Given the description of an element on the screen output the (x, y) to click on. 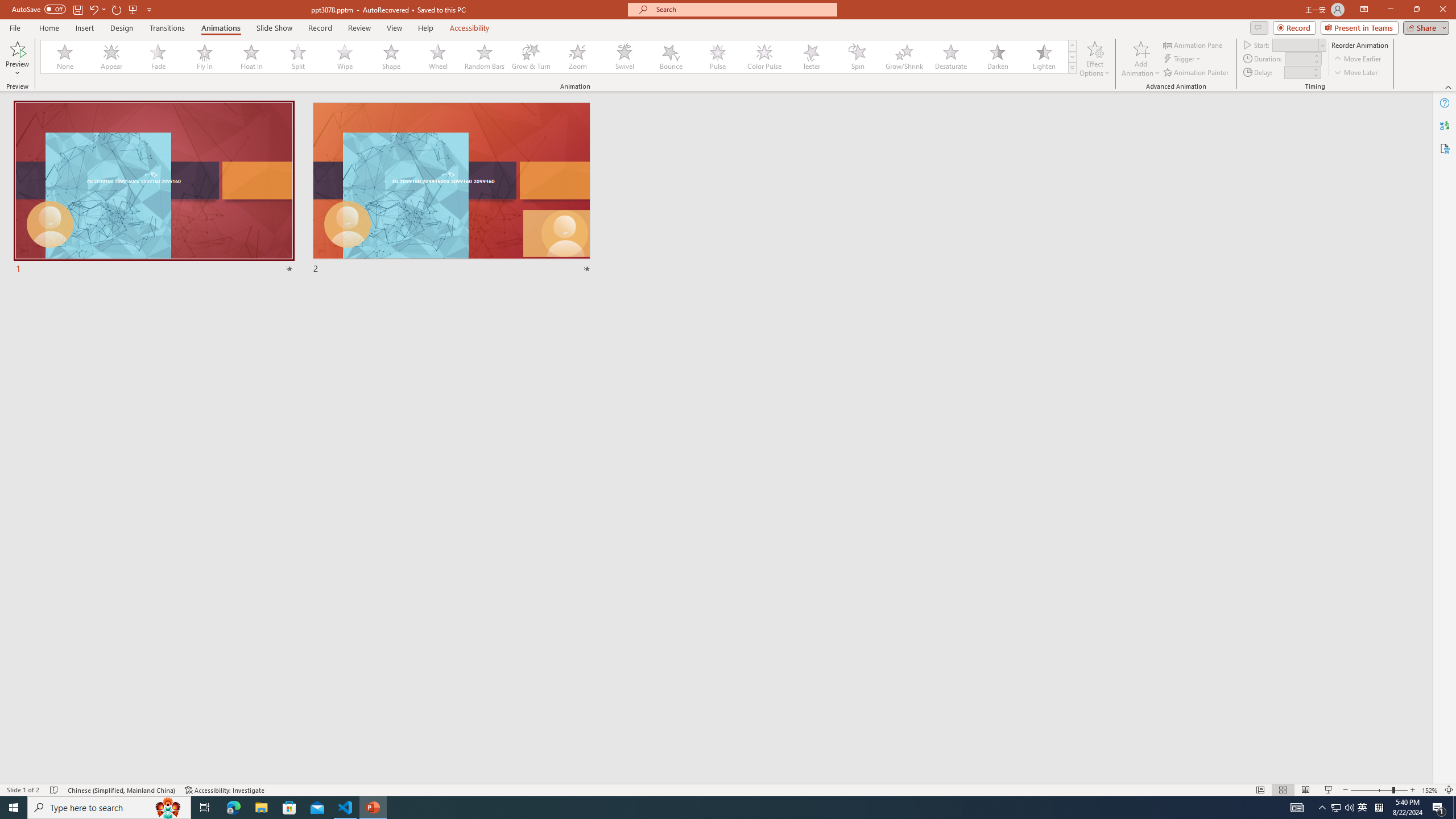
Desaturate (950, 56)
